Given the description of an element on the screen output the (x, y) to click on. 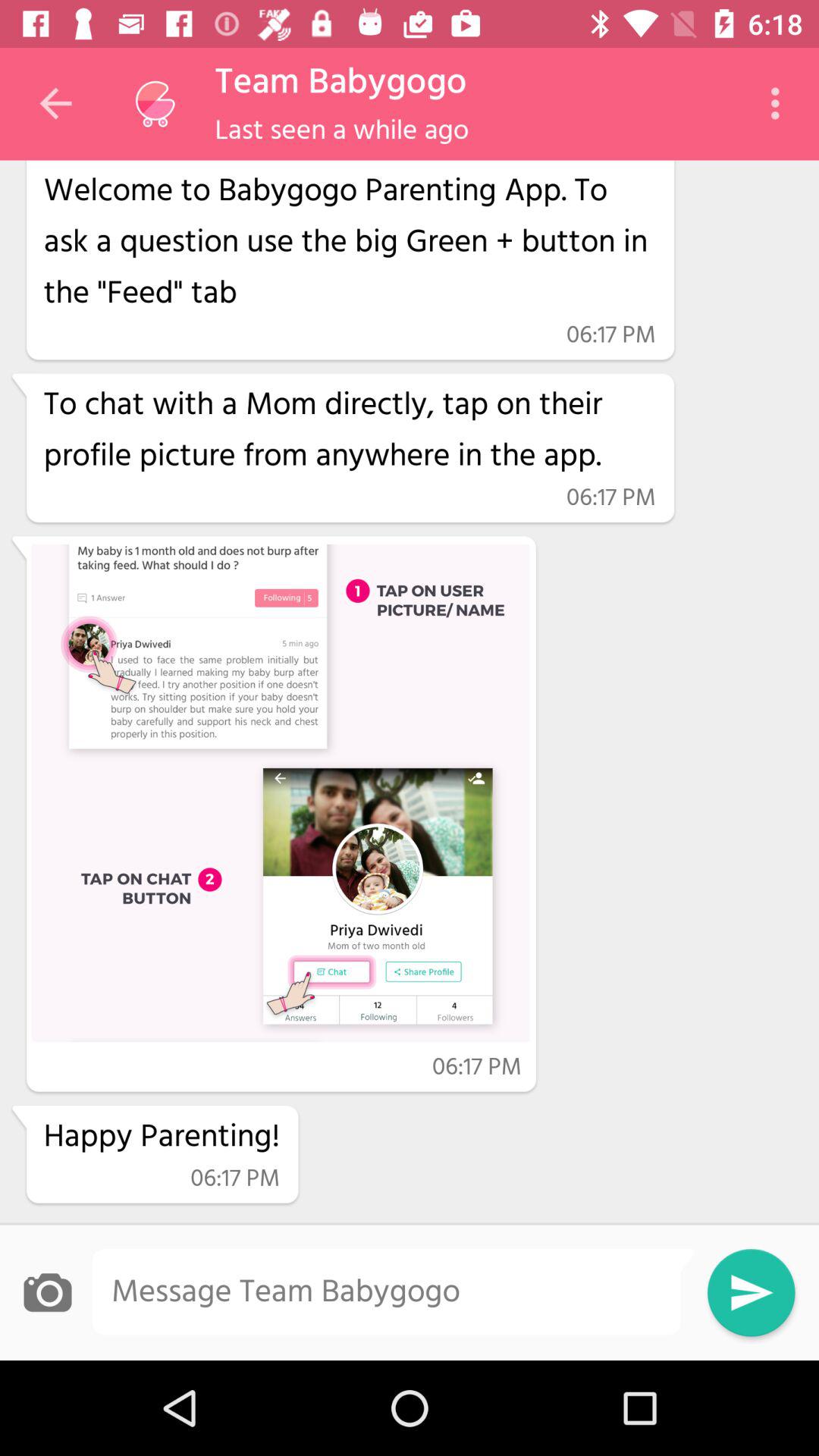
scroll until the team babygogo item (340, 82)
